Given the description of an element on the screen output the (x, y) to click on. 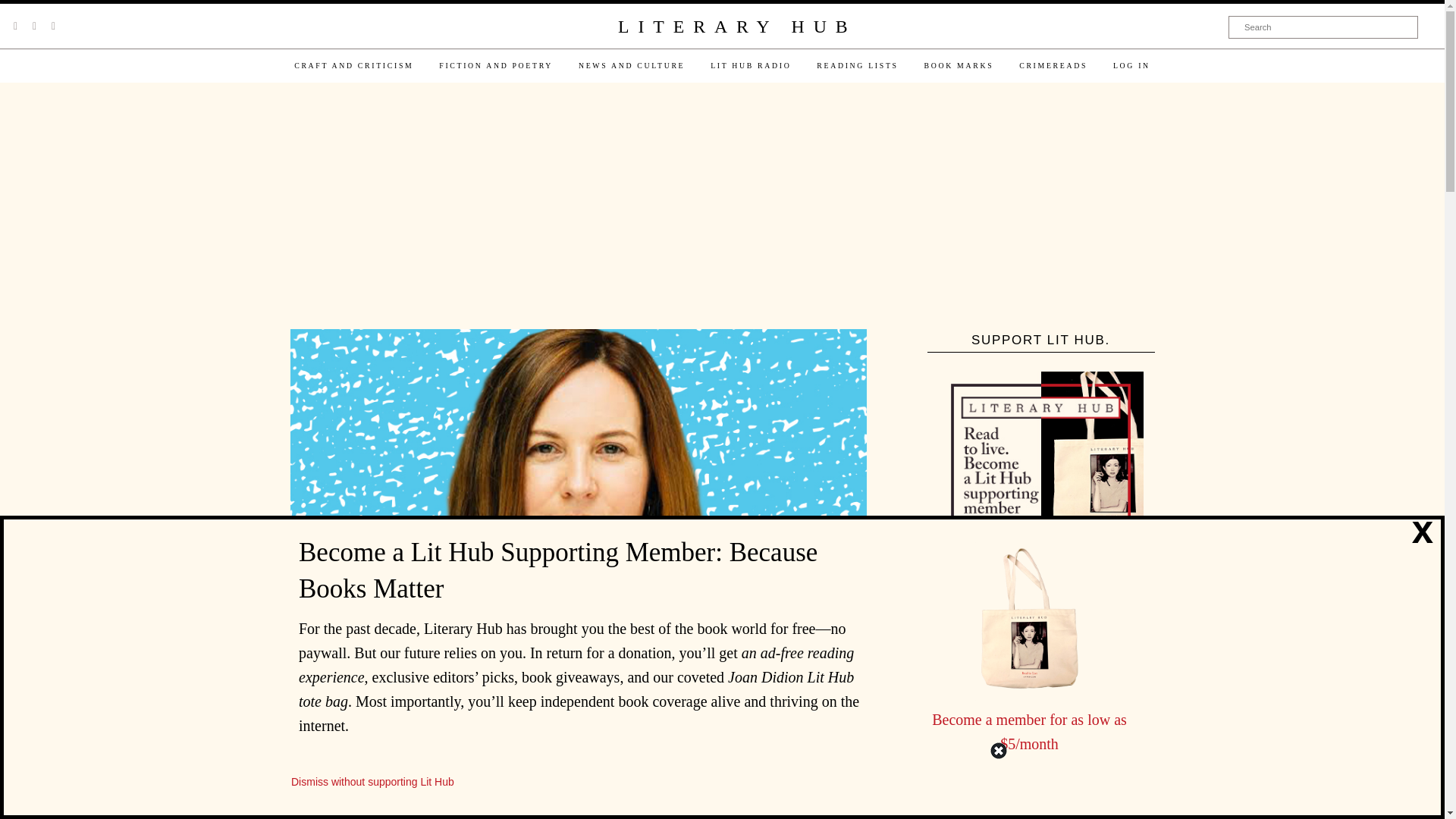
Instagram (52, 25)
LITERARY HUB (736, 26)
NEWS AND CULTURE (631, 65)
Twitter (15, 25)
Support Lit Hub. (1040, 473)
Facebook (34, 25)
3rd party ad content (721, 207)
Search (1323, 26)
CRAFT AND CRITICISM (353, 65)
FICTION AND POETRY (496, 65)
